Given the description of an element on the screen output the (x, y) to click on. 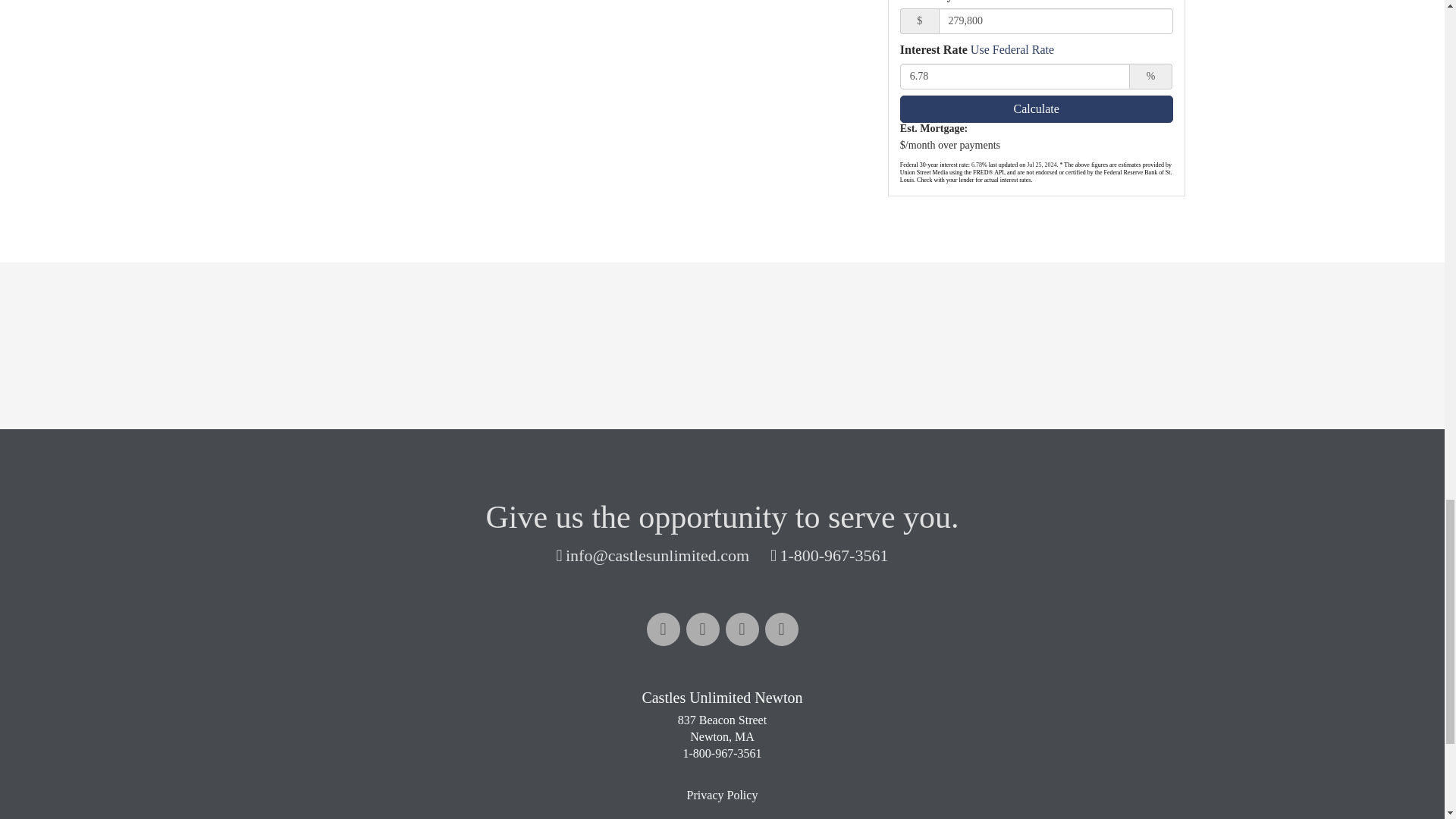
6.78 (1014, 76)
Linkedin (702, 629)
Instagram (780, 629)
279,800 (1056, 21)
Twitter (741, 629)
Facebook (662, 629)
